Given the description of an element on the screen output the (x, y) to click on. 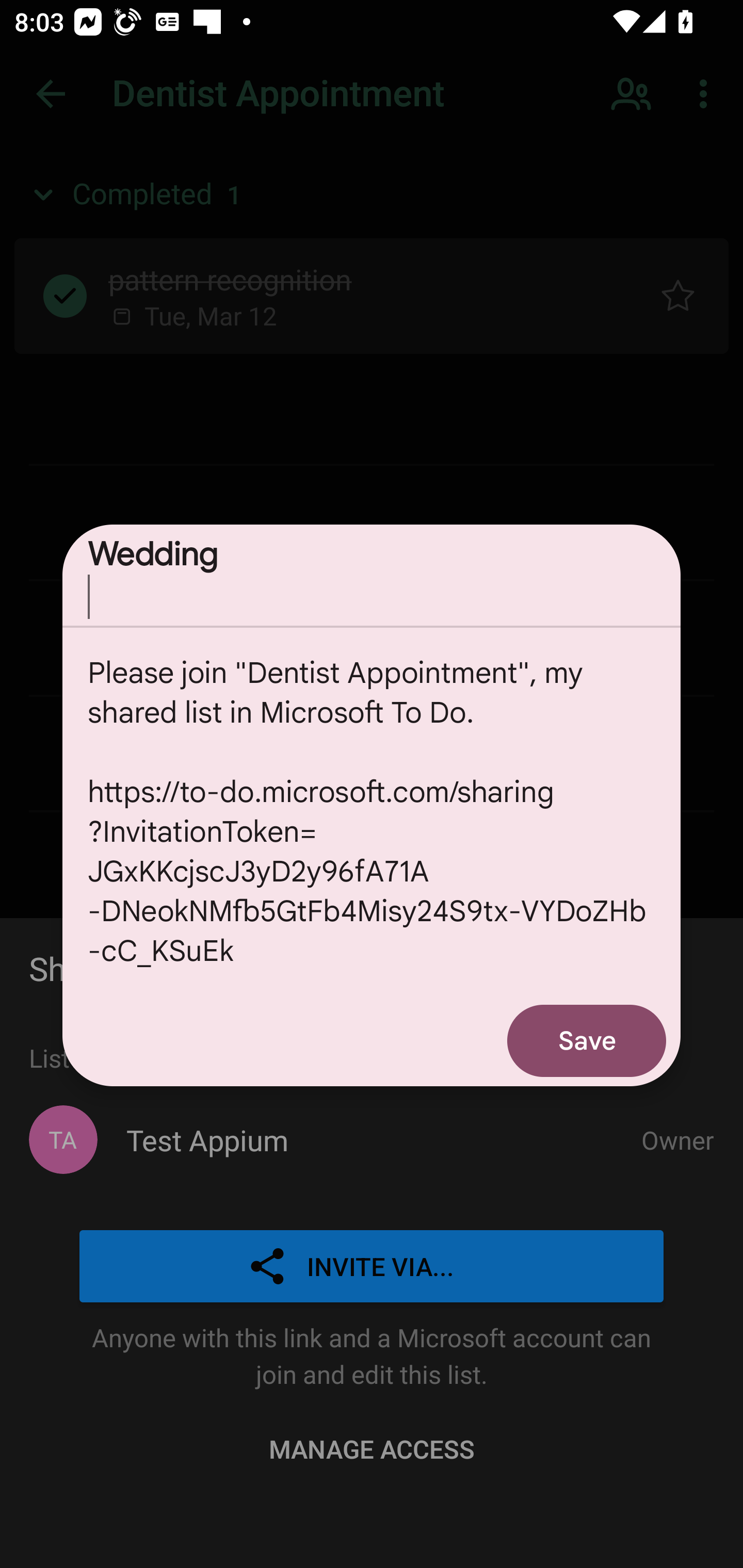
Wedding
 (371, 575)
Save (586, 1040)
